Given the description of an element on the screen output the (x, y) to click on. 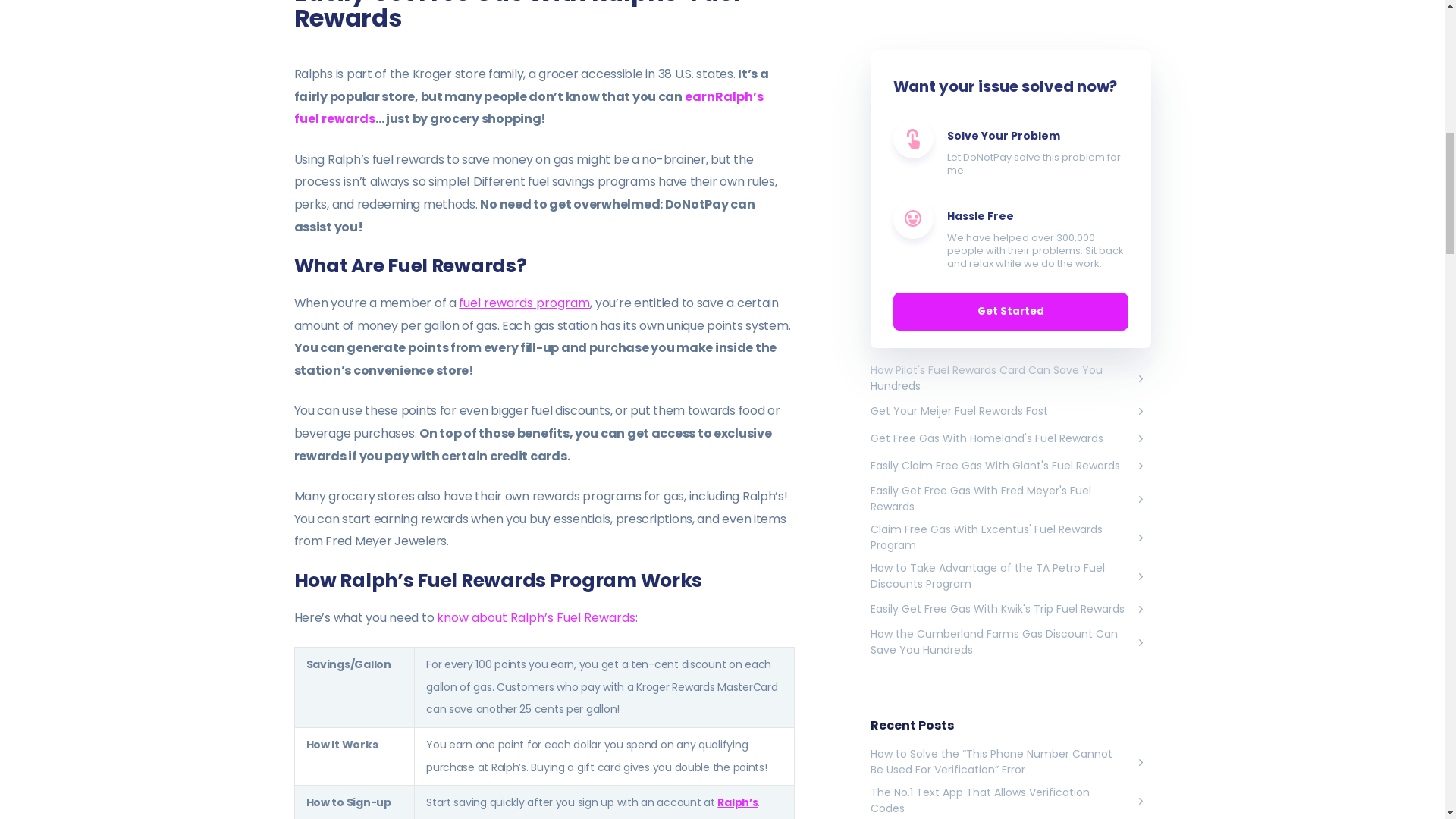
fuel rewards program (523, 302)
fuel rewards (334, 117)
earn (699, 96)
